Given the description of an element on the screen output the (x, y) to click on. 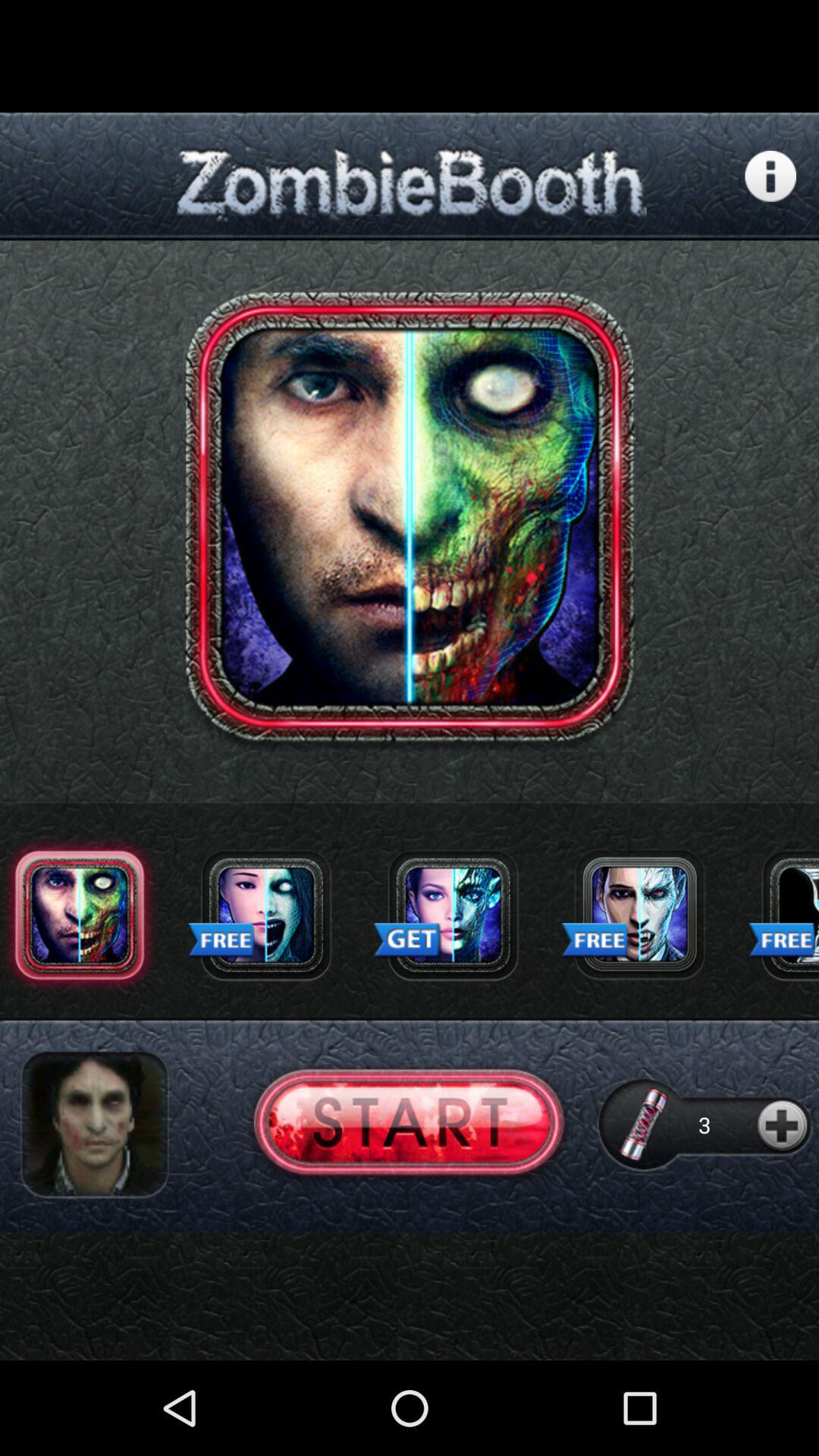
start game (409, 1124)
